Given the description of an element on the screen output the (x, y) to click on. 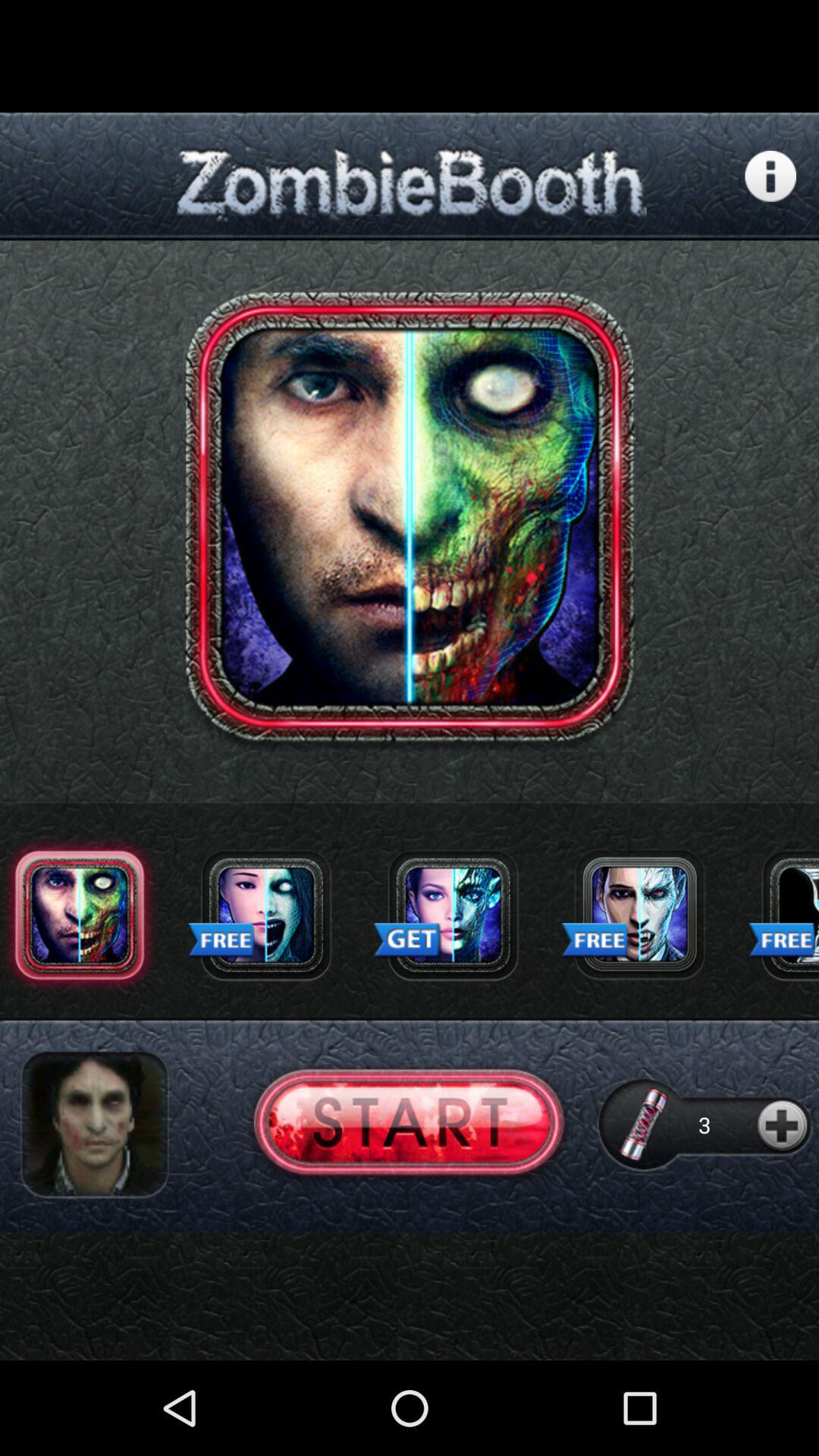
start game (409, 1124)
